Given the description of an element on the screen output the (x, y) to click on. 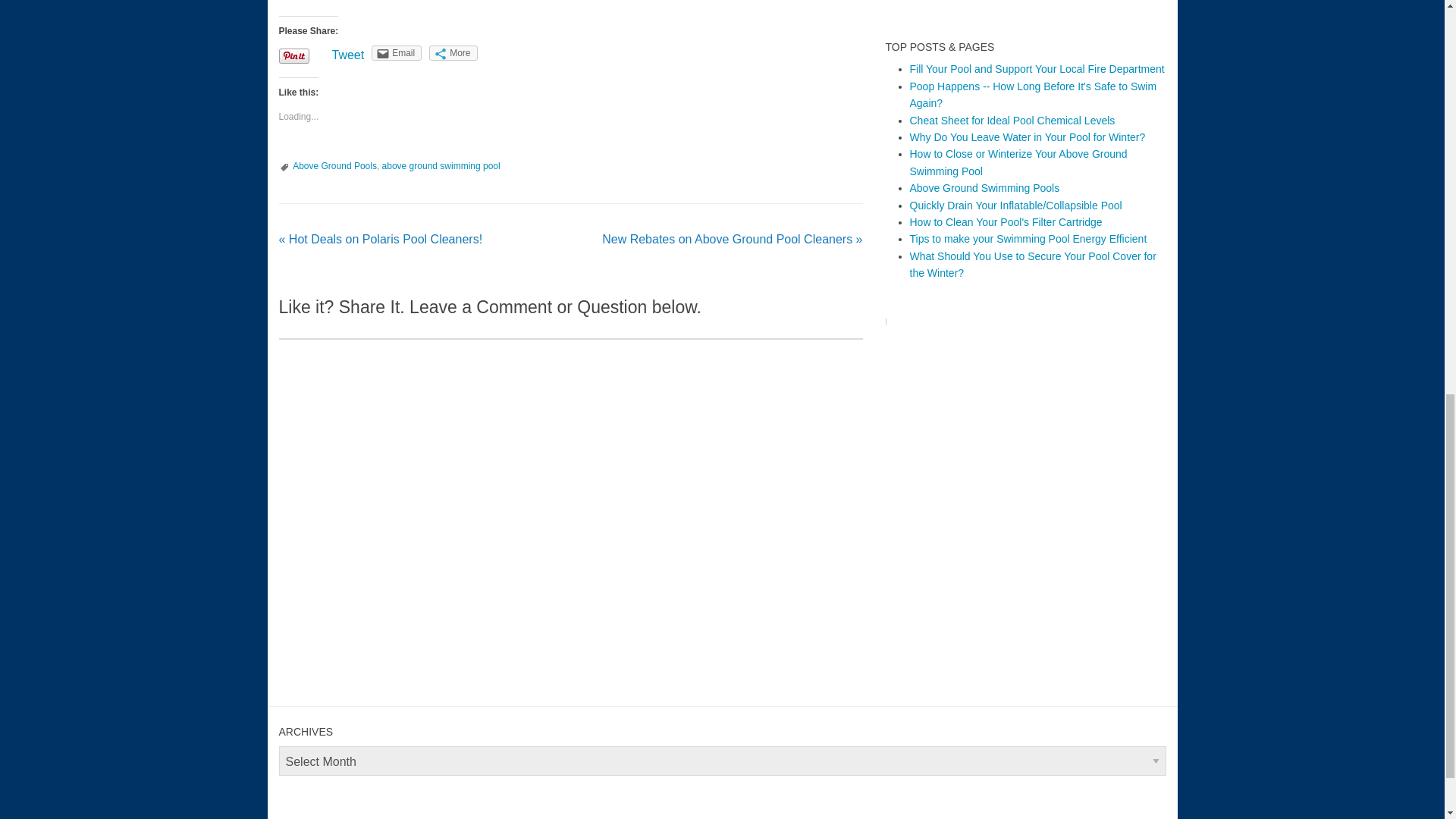
Click to email this to a friend (396, 52)
Above Ground Pools (334, 165)
More (453, 52)
Tweet (348, 54)
Email (396, 52)
above ground swimming pool (440, 165)
